Given the description of an element on the screen output the (x, y) to click on. 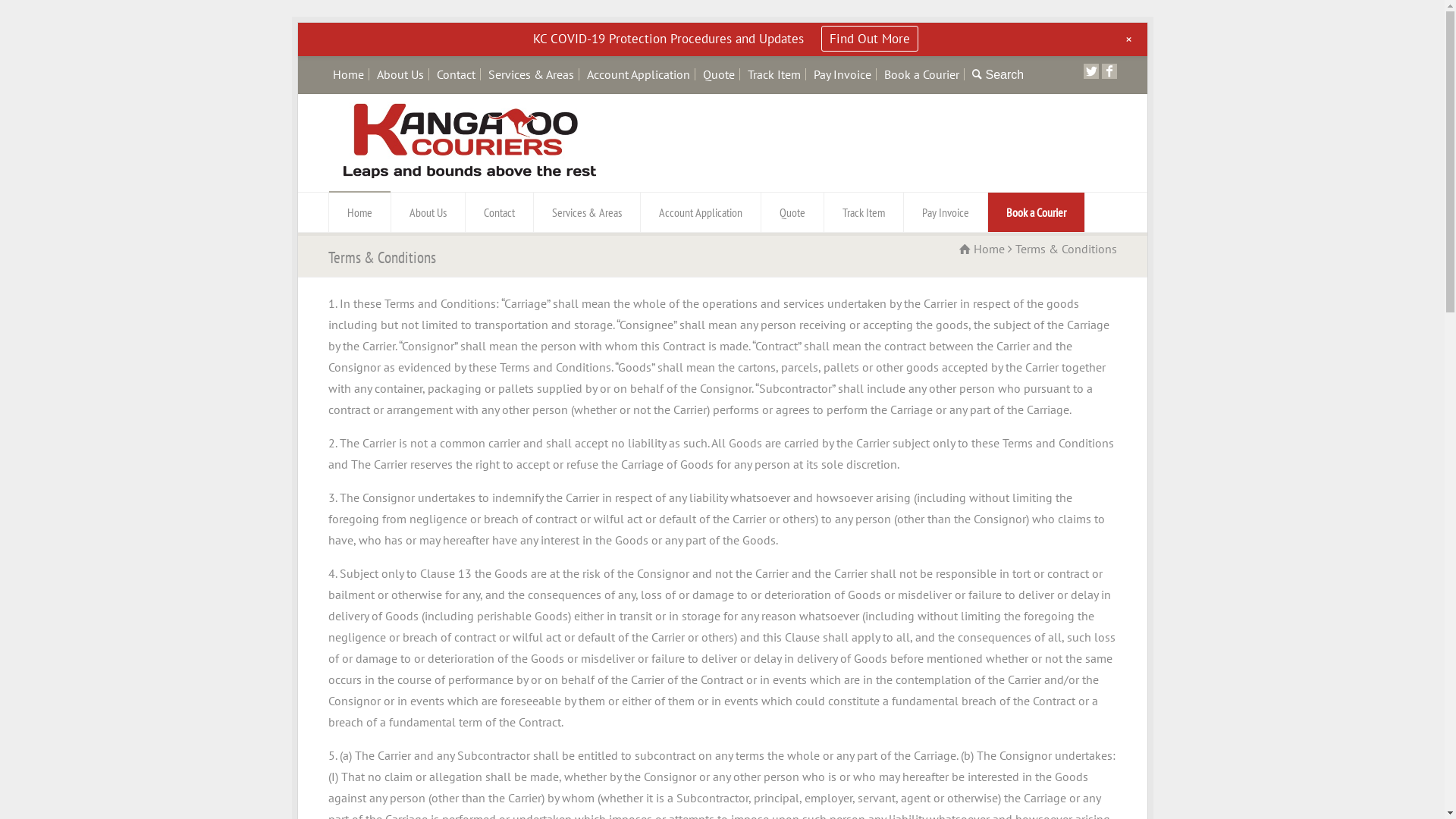
Home Element type: text (981, 248)
Pay Invoice Element type: text (841, 73)
Track Item Element type: text (862, 212)
Account Application Element type: text (699, 212)
Home Element type: text (359, 212)
Quote Element type: text (792, 212)
Twitter Element type: hover (1090, 70)
About Us Element type: text (399, 73)
Find Out More Element type: text (869, 38)
Home Element type: text (347, 73)
Services & Areas Element type: text (586, 212)
Book a Courier Element type: text (1035, 212)
Services & Areas Element type: text (531, 73)
Facebook Element type: hover (1108, 70)
About Us Element type: text (427, 212)
Book a Courier Element type: text (921, 73)
Kangaroo Couriers Element type: hover (468, 173)
Contact Element type: text (455, 73)
Contact Element type: text (499, 212)
Track Item Element type: text (773, 73)
Quote Element type: text (718, 73)
Pay Invoice Element type: text (945, 212)
Account Application Element type: text (638, 73)
